Given the description of an element on the screen output the (x, y) to click on. 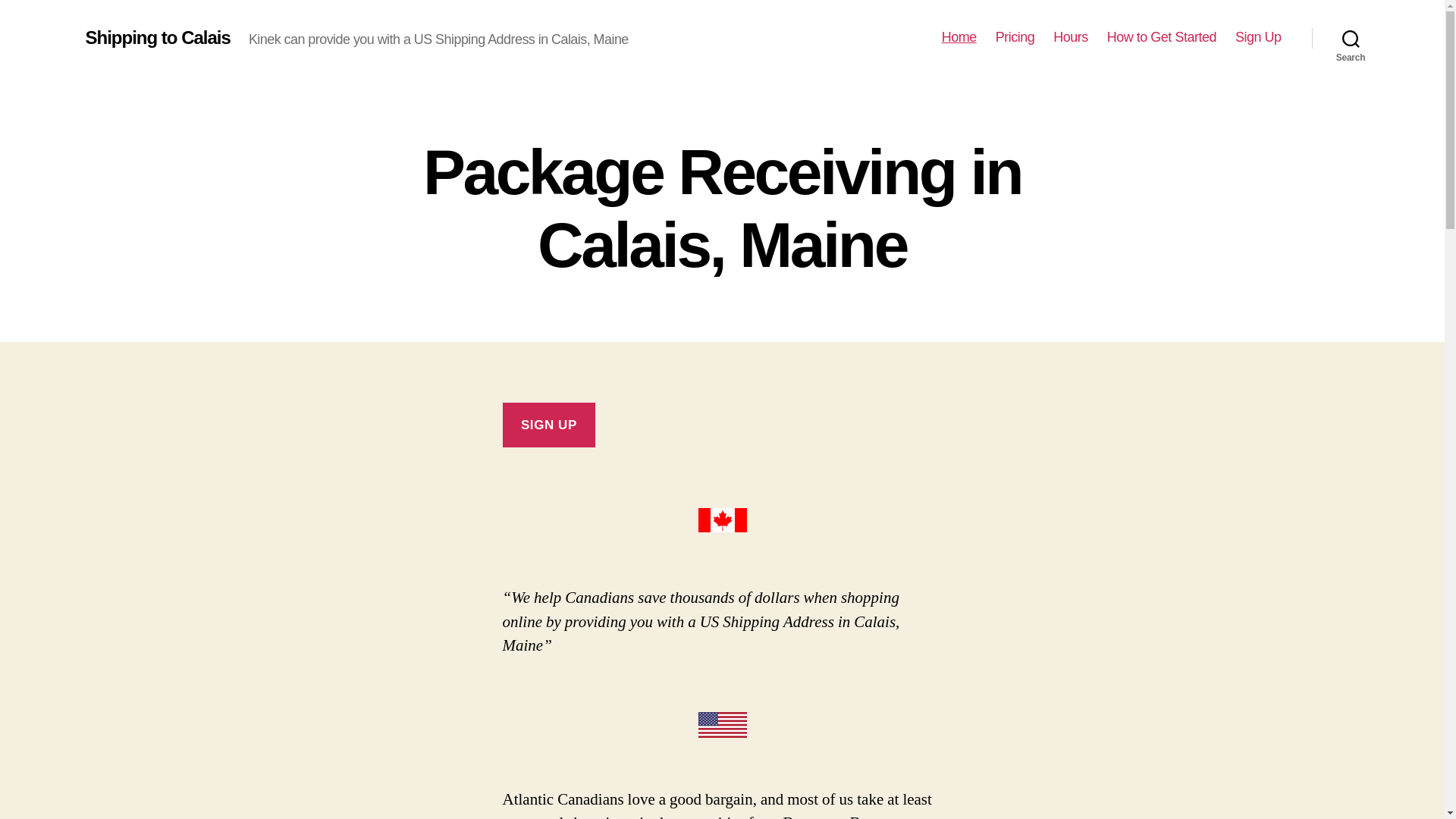
Search (1350, 37)
SIGN UP (548, 424)
Sign Up (1257, 37)
Pricing for shipping to Calais, Maine (1015, 37)
Home (959, 37)
Shipping to Calais (157, 37)
How to Get Started (1160, 37)
Hours (1069, 37)
Pricing (1015, 37)
